Given the description of an element on the screen output the (x, y) to click on. 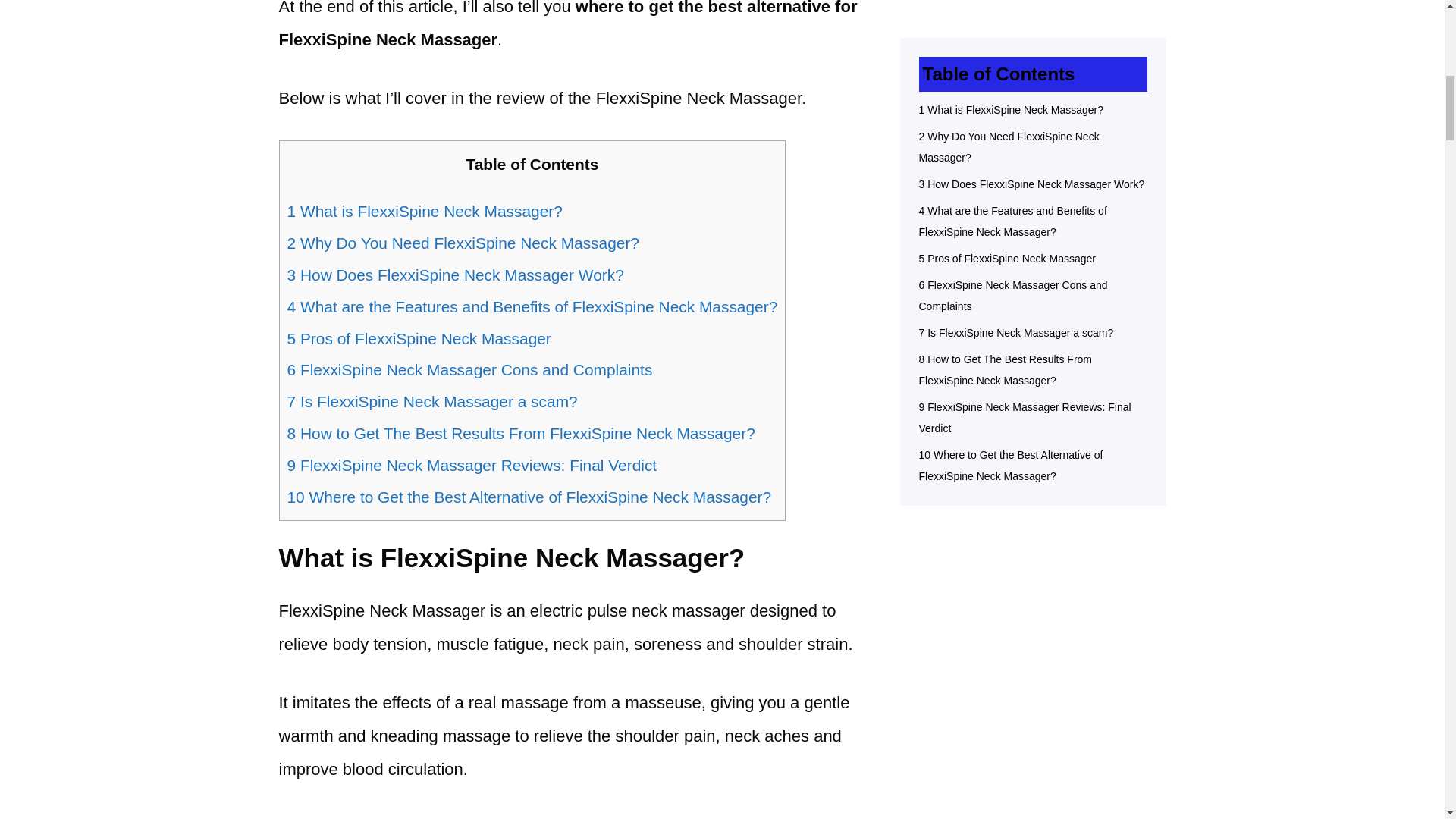
Scroll back to top (1406, 720)
1 What is FlexxiSpine Neck Massager? (424, 211)
9 FlexxiSpine Neck Massager Reviews: Final Verdict (471, 465)
3 How Does FlexxiSpine Neck Massager Work? (454, 274)
2 Why Do You Need FlexxiSpine Neck Massager? (462, 242)
5 Pros of FlexxiSpine Neck Massager (418, 338)
6 FlexxiSpine Neck Massager Cons and Complaints (469, 369)
7 Is FlexxiSpine Neck Massager a scam? (431, 401)
